Given the description of an element on the screen output the (x, y) to click on. 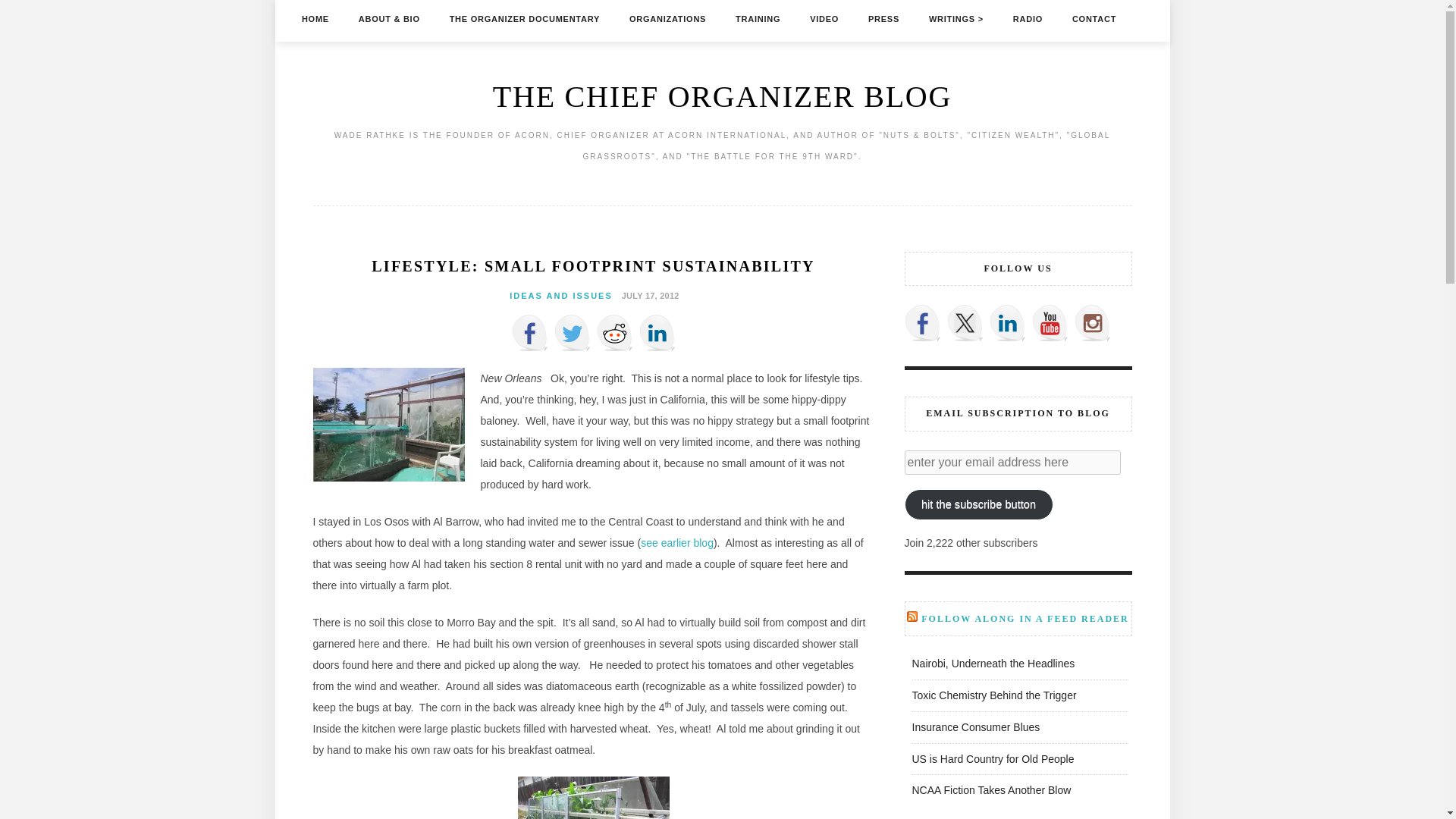
IDEAS AND ISSUES (560, 295)
Share on Reddit (613, 332)
Share on Twitter (571, 332)
JULY 17, 2012 (648, 295)
TRAINING (757, 18)
ORGANIZATIONS (667, 18)
CONTACT (1093, 18)
Share on Facebook (529, 332)
THE CHIEF ORGANIZER BLOG (722, 96)
Share on LinkedIn (657, 332)
see earlier blog (676, 542)
THE ORGANIZER DOCUMENTARY (524, 18)
